Given the description of an element on the screen output the (x, y) to click on. 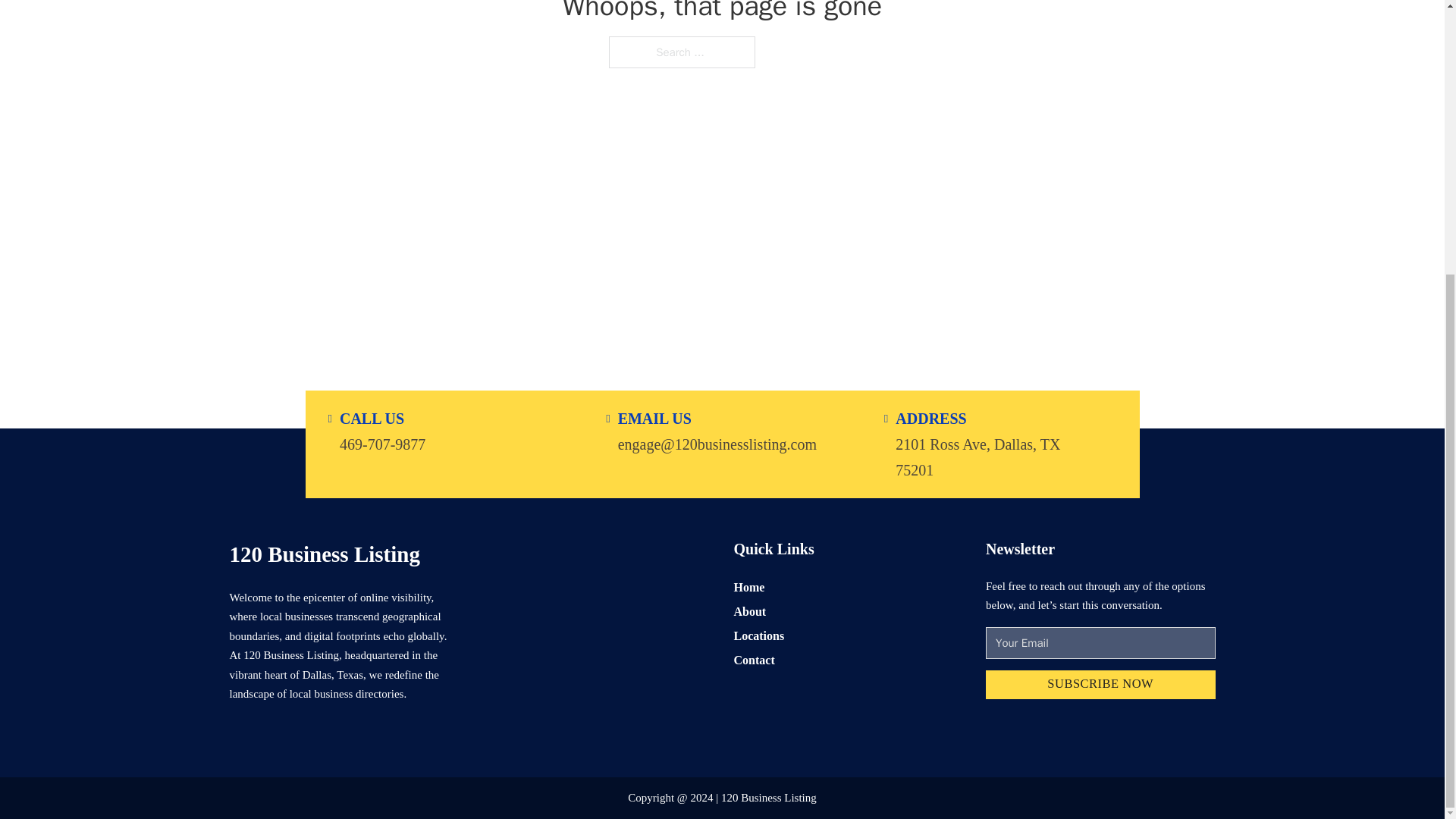
Contact (753, 660)
SUBSCRIBE NOW (1100, 685)
Locations (758, 635)
469-707-9877 (382, 443)
120 Business Listing (323, 553)
Home (749, 586)
About (750, 611)
